Given the description of an element on the screen output the (x, y) to click on. 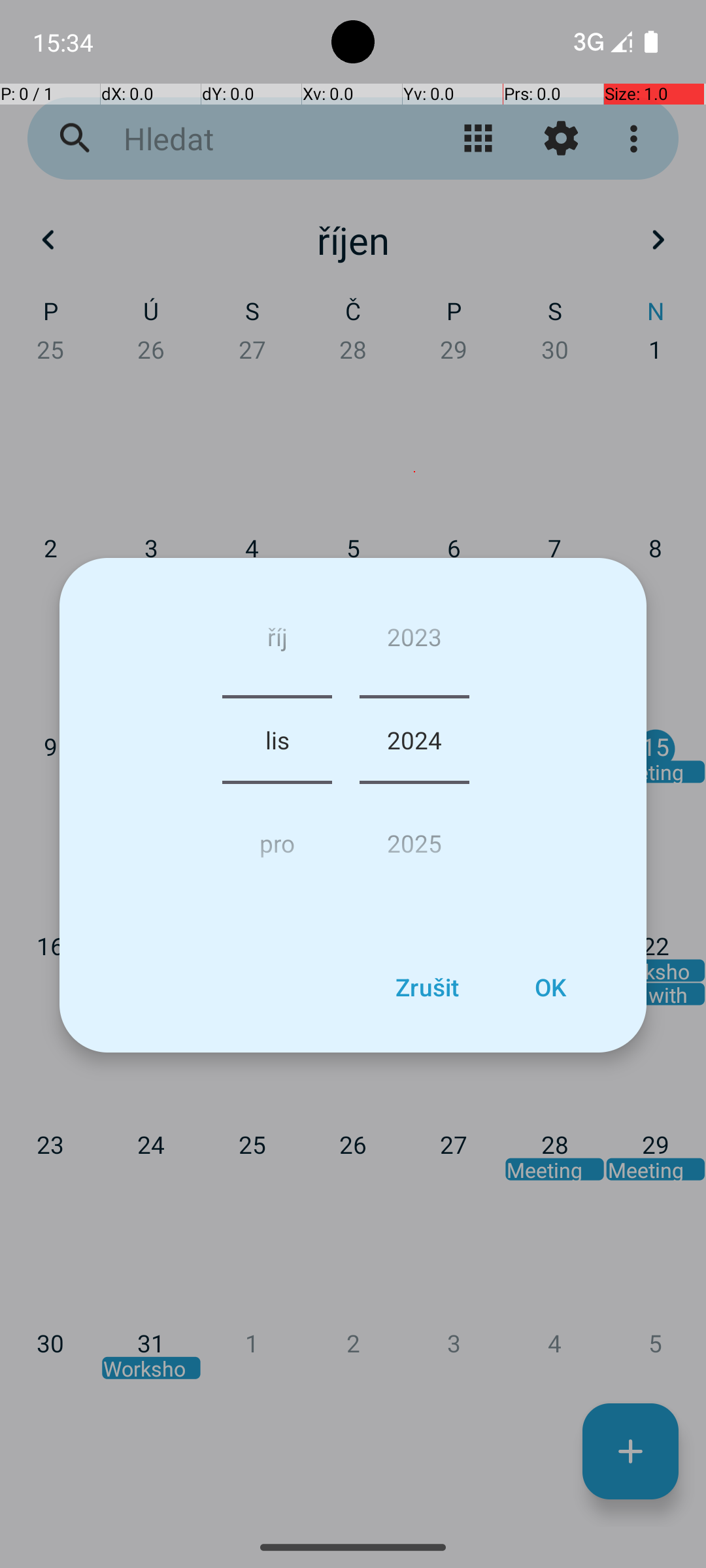
Zrušit Element type: android.widget.Button (426, 987)
říj Element type: android.widget.Button (277, 641)
lis Element type: android.widget.EditText (277, 739)
pro Element type: android.widget.Button (277, 837)
